Given the description of an element on the screen output the (x, y) to click on. 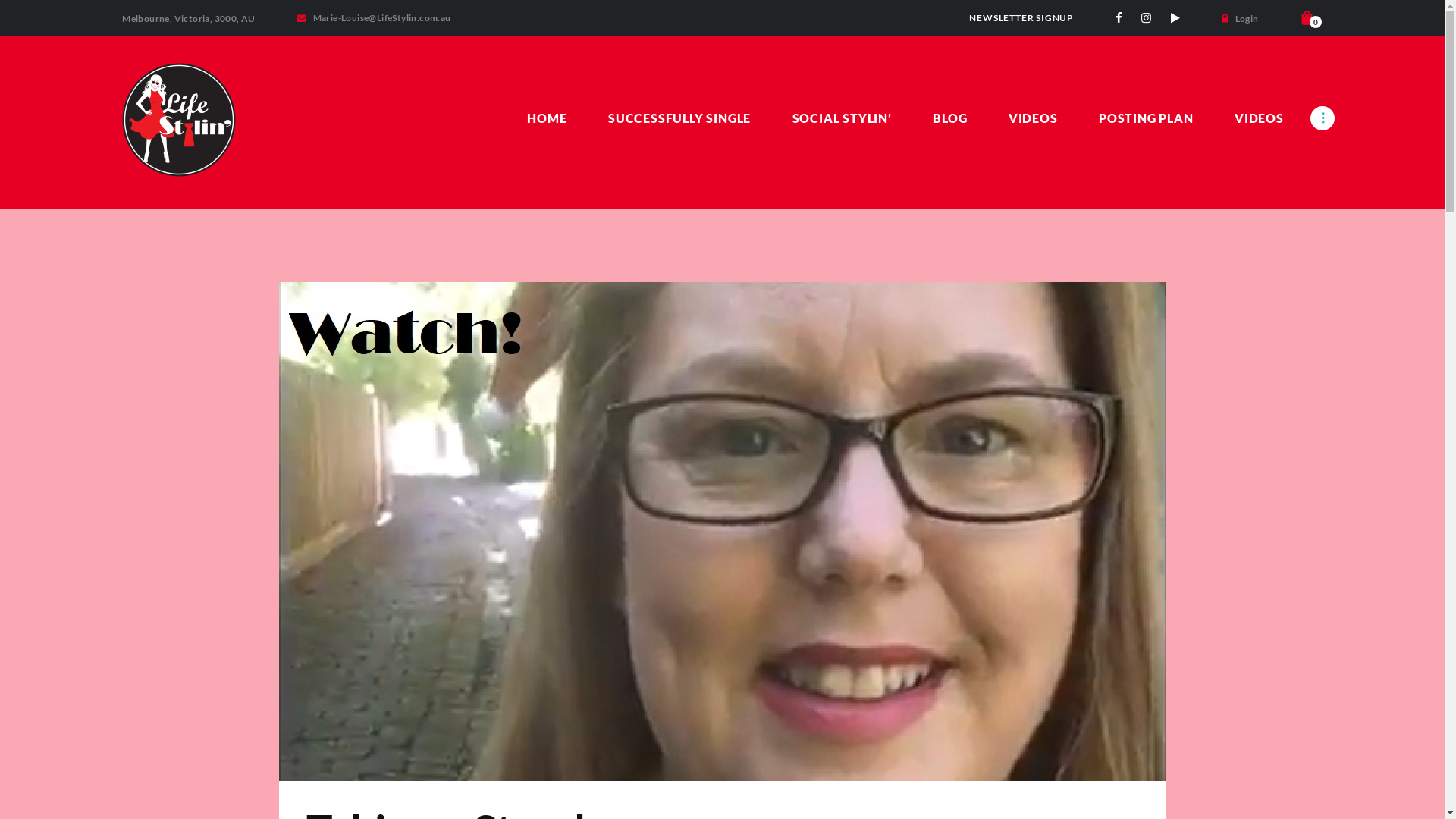
SUCCESSFULLY SINGLE Element type: text (679, 118)
VIDEOS Element type: text (1258, 118)
BLOG Element type: text (949, 118)
HOME Element type: text (547, 118)
VIDEOS Element type: text (1032, 118)
POSTING PLAN Element type: text (1145, 118)
NEWSLETTER SIGNUP Element type: text (1021, 17)
Login Element type: text (1239, 17)
